Given the description of an element on the screen output the (x, y) to click on. 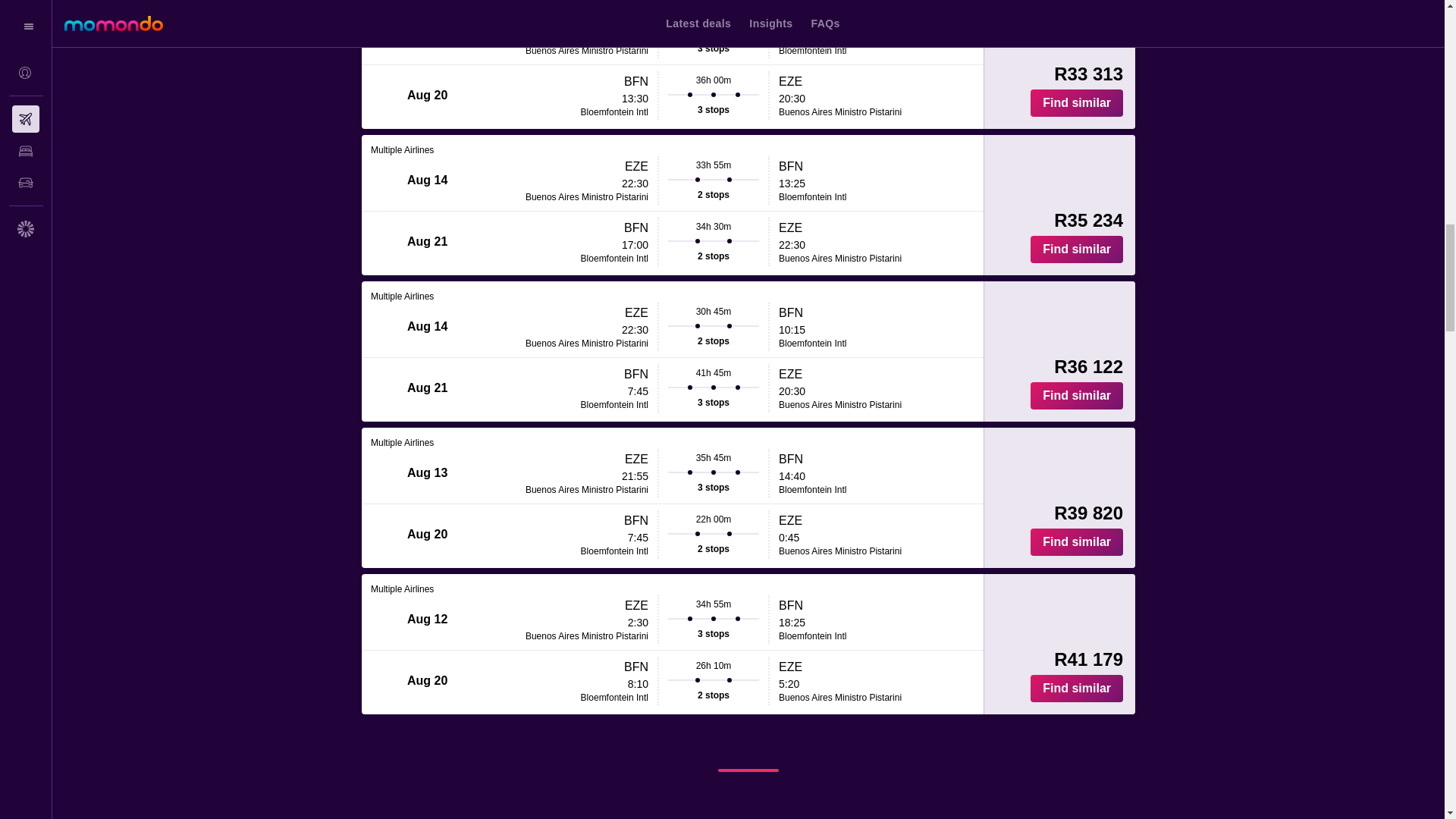
Find similar (1076, 103)
Find similar (1076, 542)
Find similar (1076, 687)
Find similar (1076, 395)
Find similar (1076, 248)
